Given the description of an element on the screen output the (x, y) to click on. 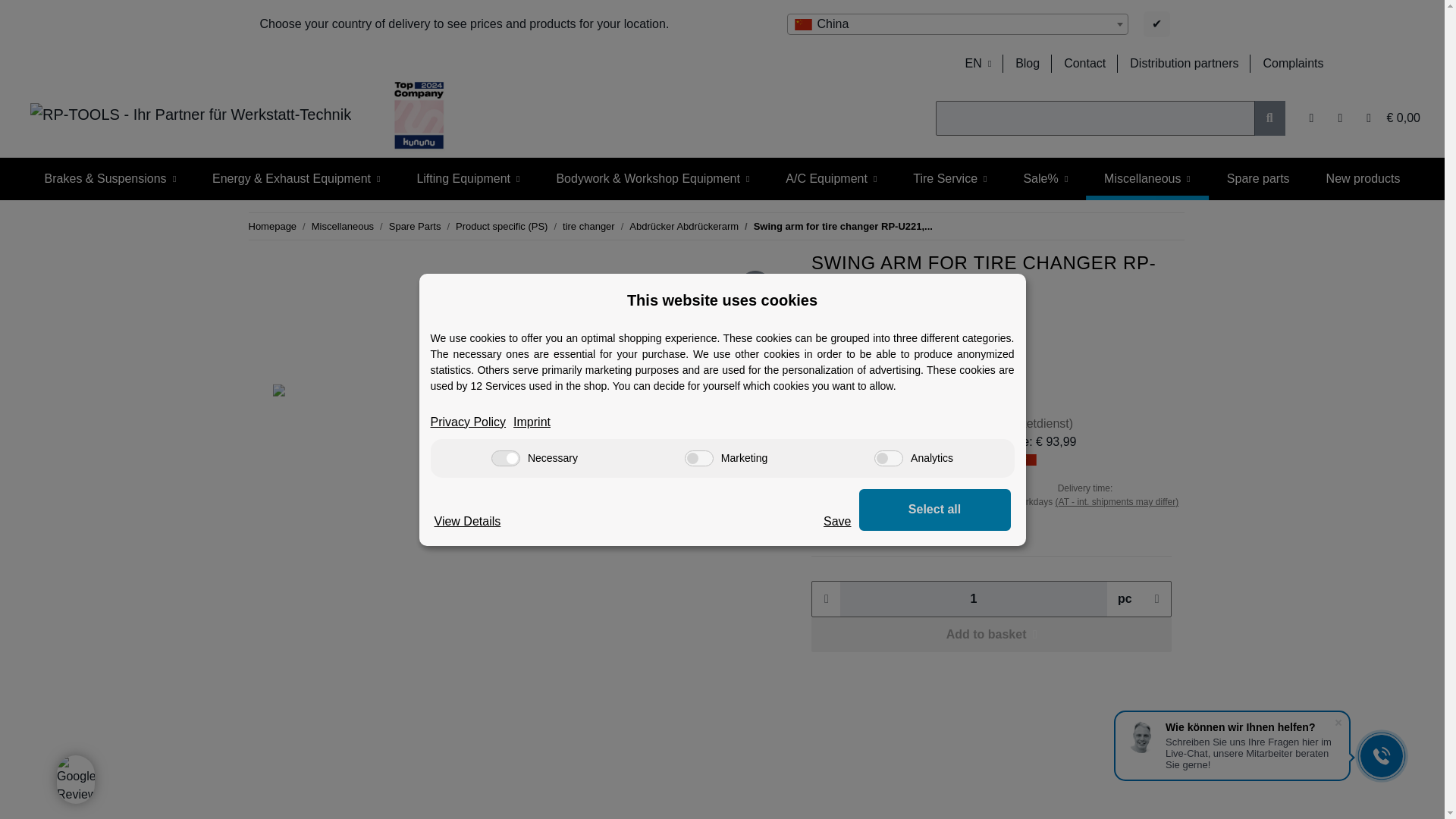
Tire Service (949, 178)
How can we help you? (1084, 63)
on (698, 458)
Complaints (1292, 63)
Spare parts (1257, 178)
Lifting Equipment (467, 178)
Lifting Equipment (467, 178)
Blog (1027, 63)
Miscellaneous (1147, 178)
New products (1362, 178)
on (505, 458)
Blog (1027, 63)
China (956, 24)
on (888, 458)
EN (977, 63)
